Given the description of an element on the screen output the (x, y) to click on. 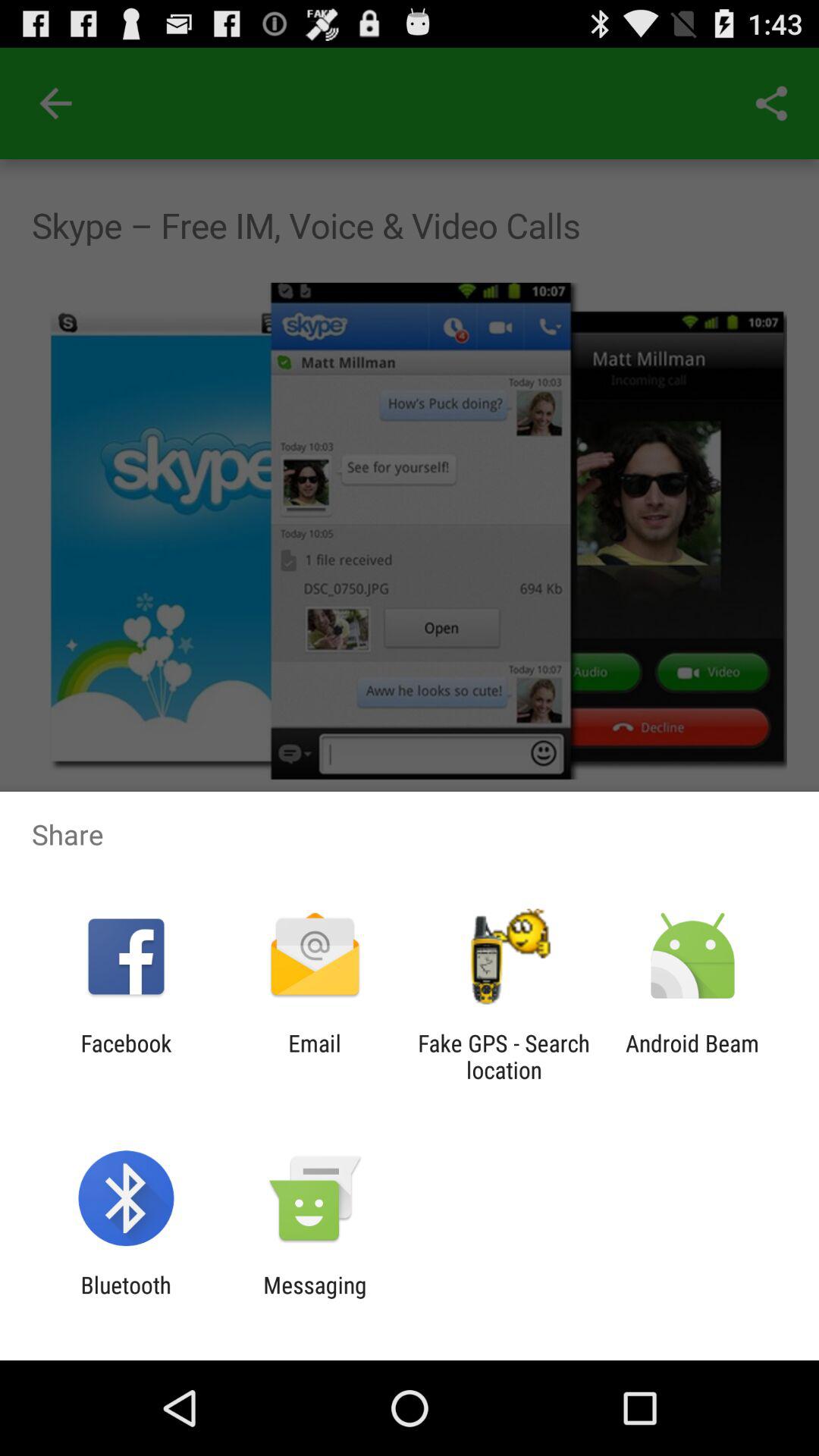
turn on icon to the left of the fake gps search item (314, 1056)
